Given the description of an element on the screen output the (x, y) to click on. 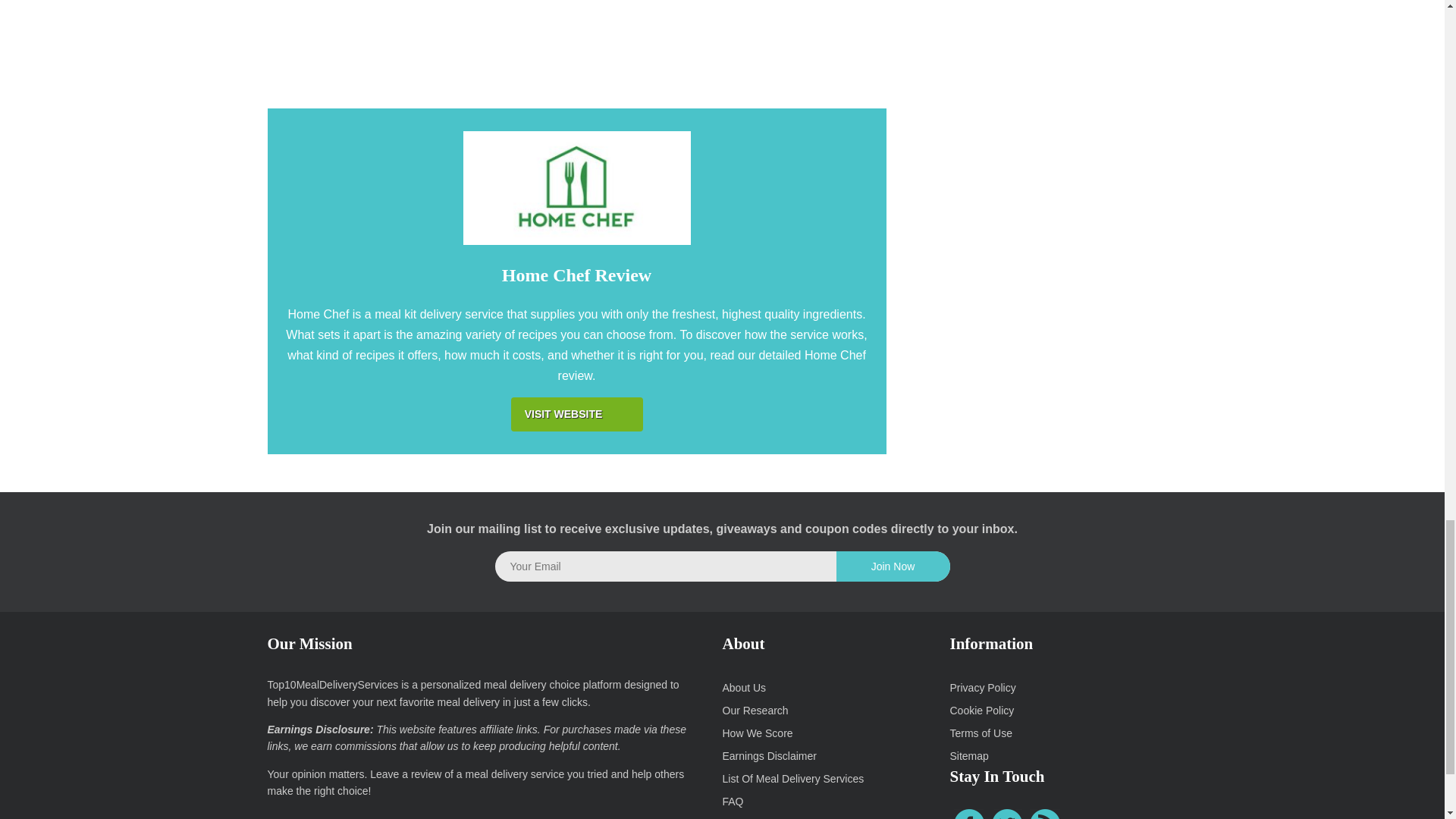
Top 10 Meal Delivery Services on Facebook (968, 814)
Top 10 Meal Delivery Services on Twitter (1006, 814)
Join Now (892, 566)
RSS Feed (1044, 814)
